Given the description of an element on the screen output the (x, y) to click on. 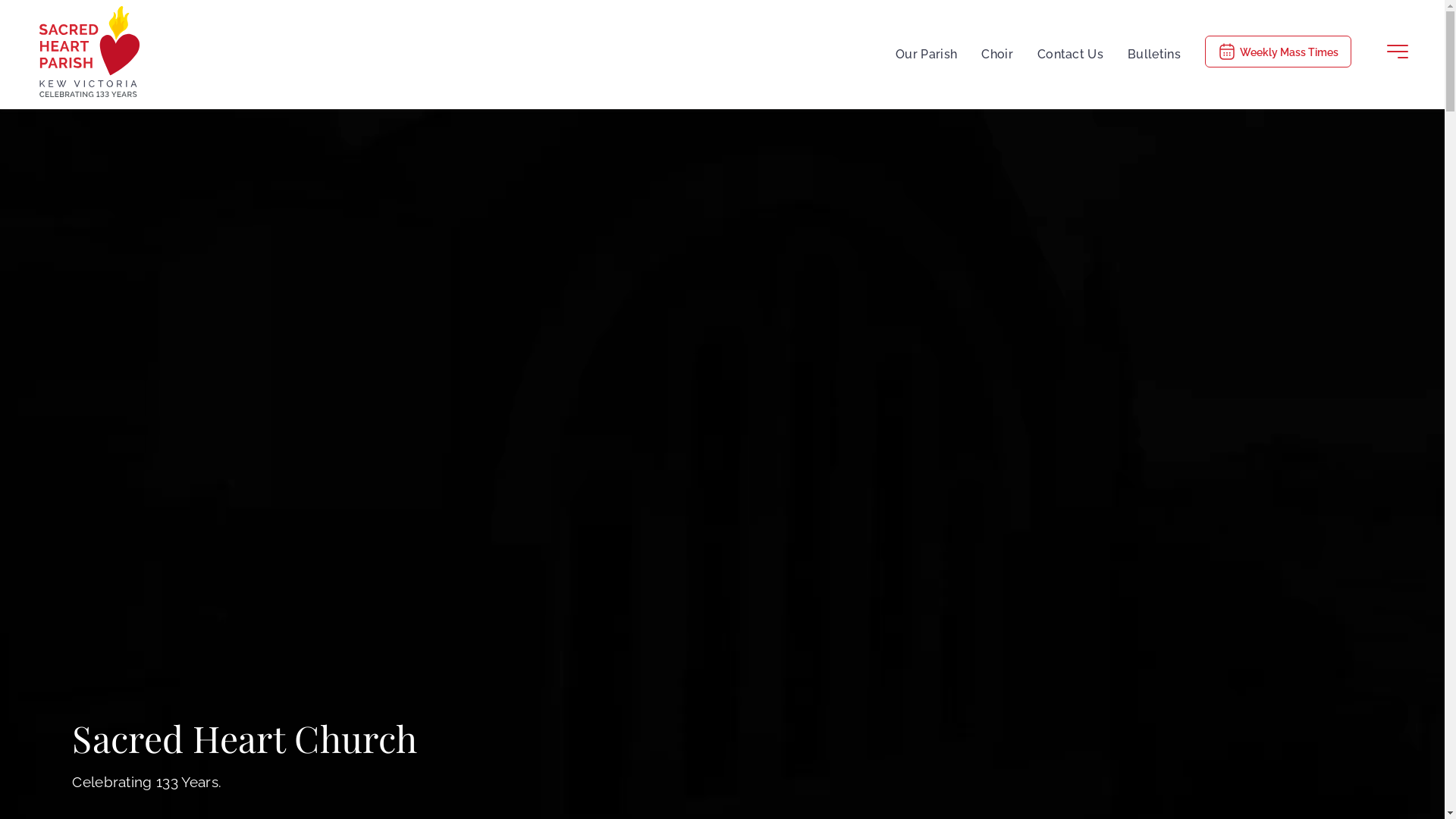
Choir Element type: text (997, 51)
Contact Us Element type: text (1070, 51)
Weekly Mass Times Element type: text (1277, 51)
Bulletins Element type: text (1153, 51)
Our Parish Element type: text (926, 51)
